Given the description of an element on the screen output the (x, y) to click on. 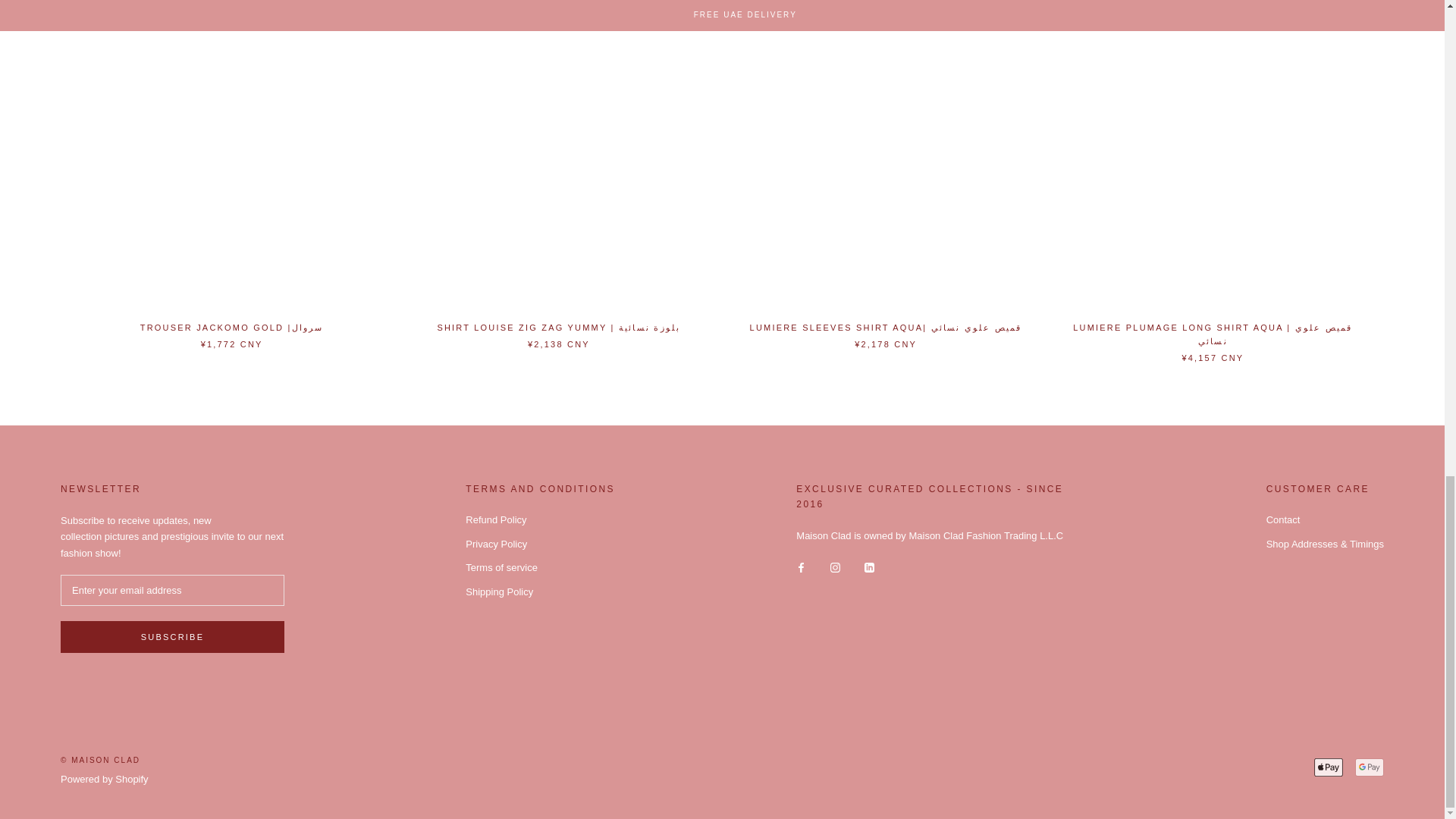
Apple Pay (1328, 767)
Google Pay (1369, 767)
